Given the description of an element on the screen output the (x, y) to click on. 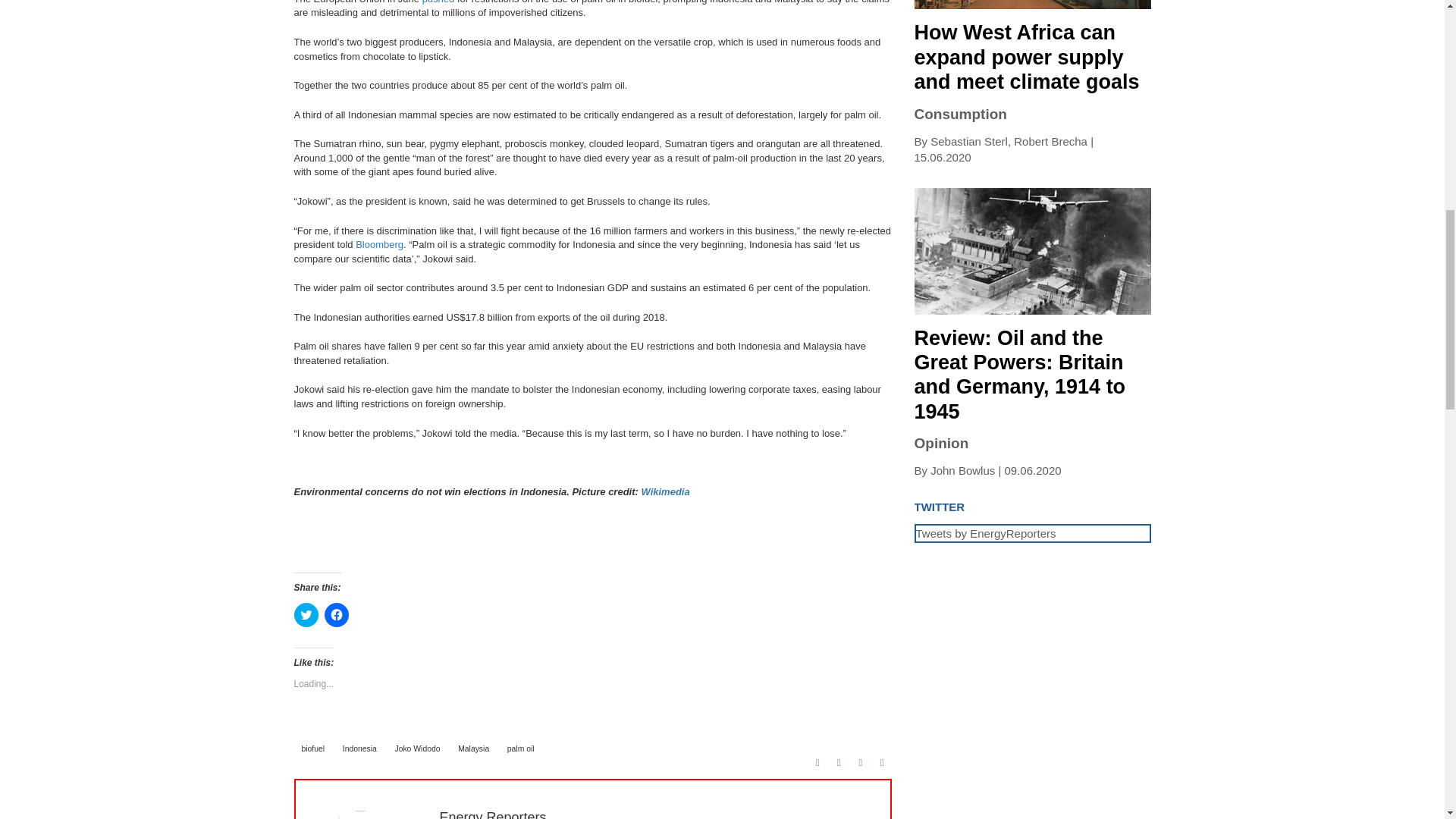
pushed (438, 2)
Wikimedia (664, 491)
Facebook (817, 762)
Click to share on Twitter (306, 614)
Twitter (838, 762)
Bloomberg (379, 244)
Send Email (881, 762)
biofuel (313, 748)
